Given the description of an element on the screen output the (x, y) to click on. 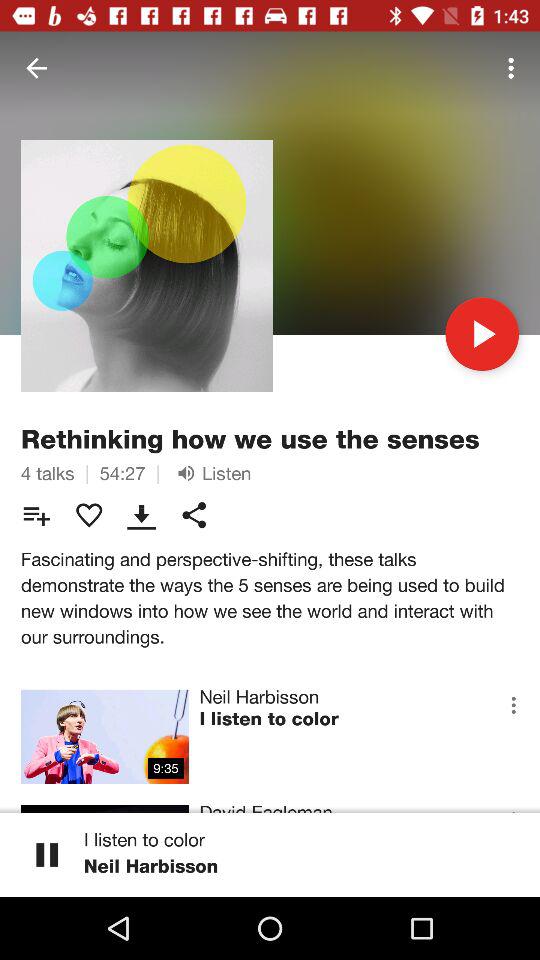
open item at the top right corner (513, 67)
